Given the description of an element on the screen output the (x, y) to click on. 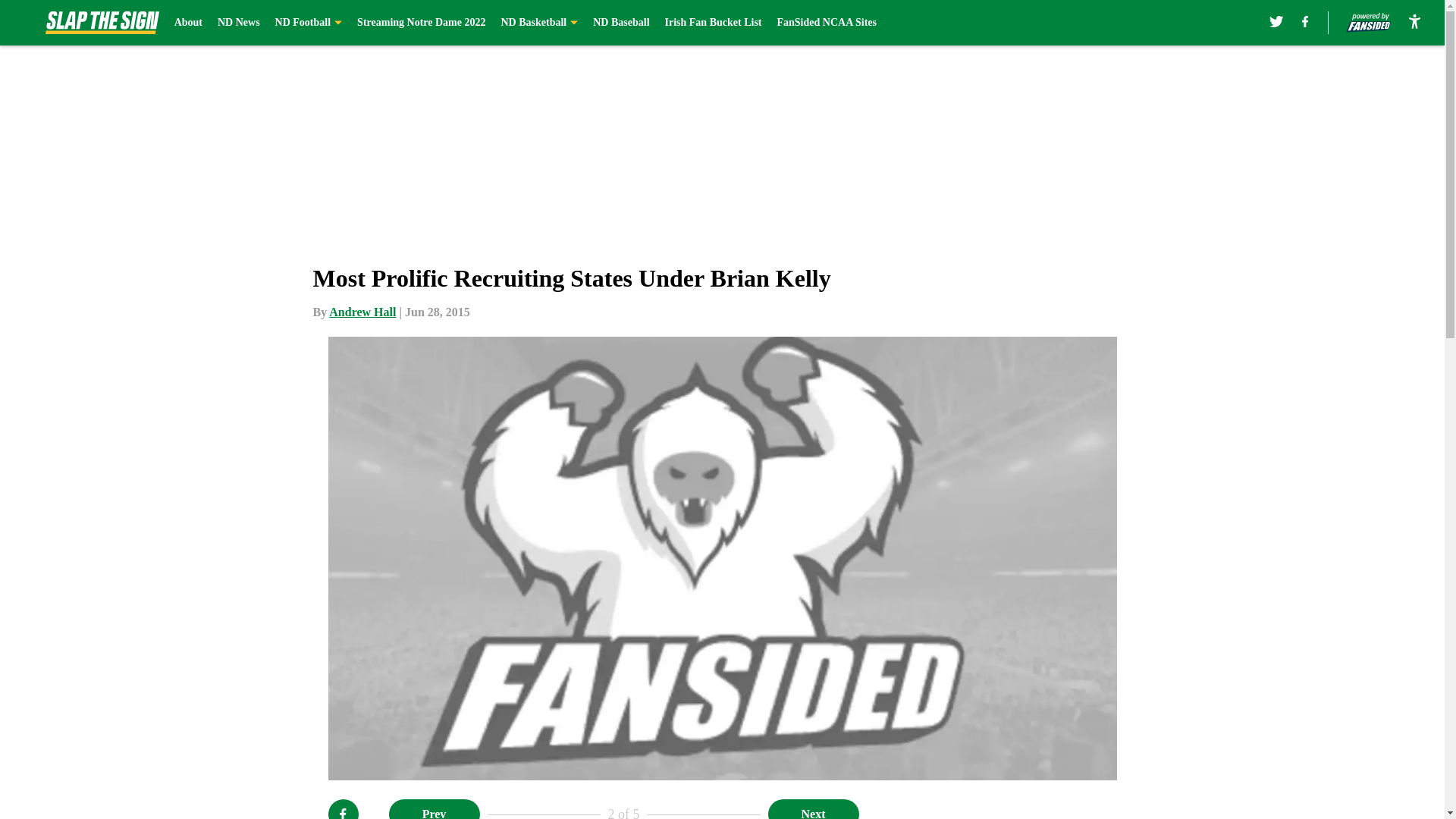
Streaming Notre Dame 2022 (420, 22)
Andrew Hall (362, 311)
Next (813, 809)
Prev (433, 809)
ND Baseball (620, 22)
FanSided NCAA Sites (826, 22)
ND News (238, 22)
About (188, 22)
Irish Fan Bucket List (713, 22)
